Given the description of an element on the screen output the (x, y) to click on. 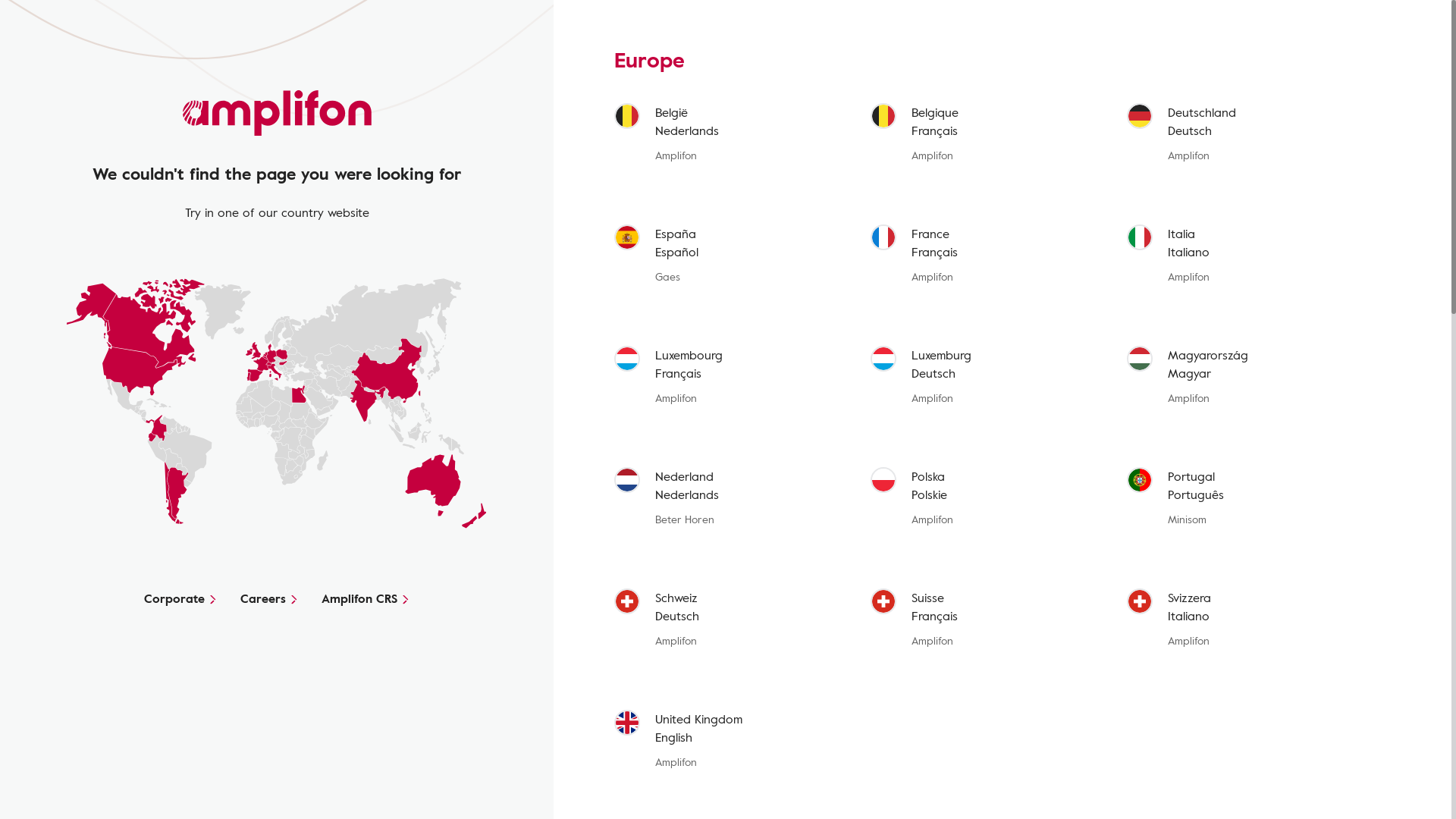
Amplifon CRS Element type: text (365, 598)
Corporate Element type: text (180, 598)
Careers Element type: text (268, 598)
